Given the description of an element on the screen output the (x, y) to click on. 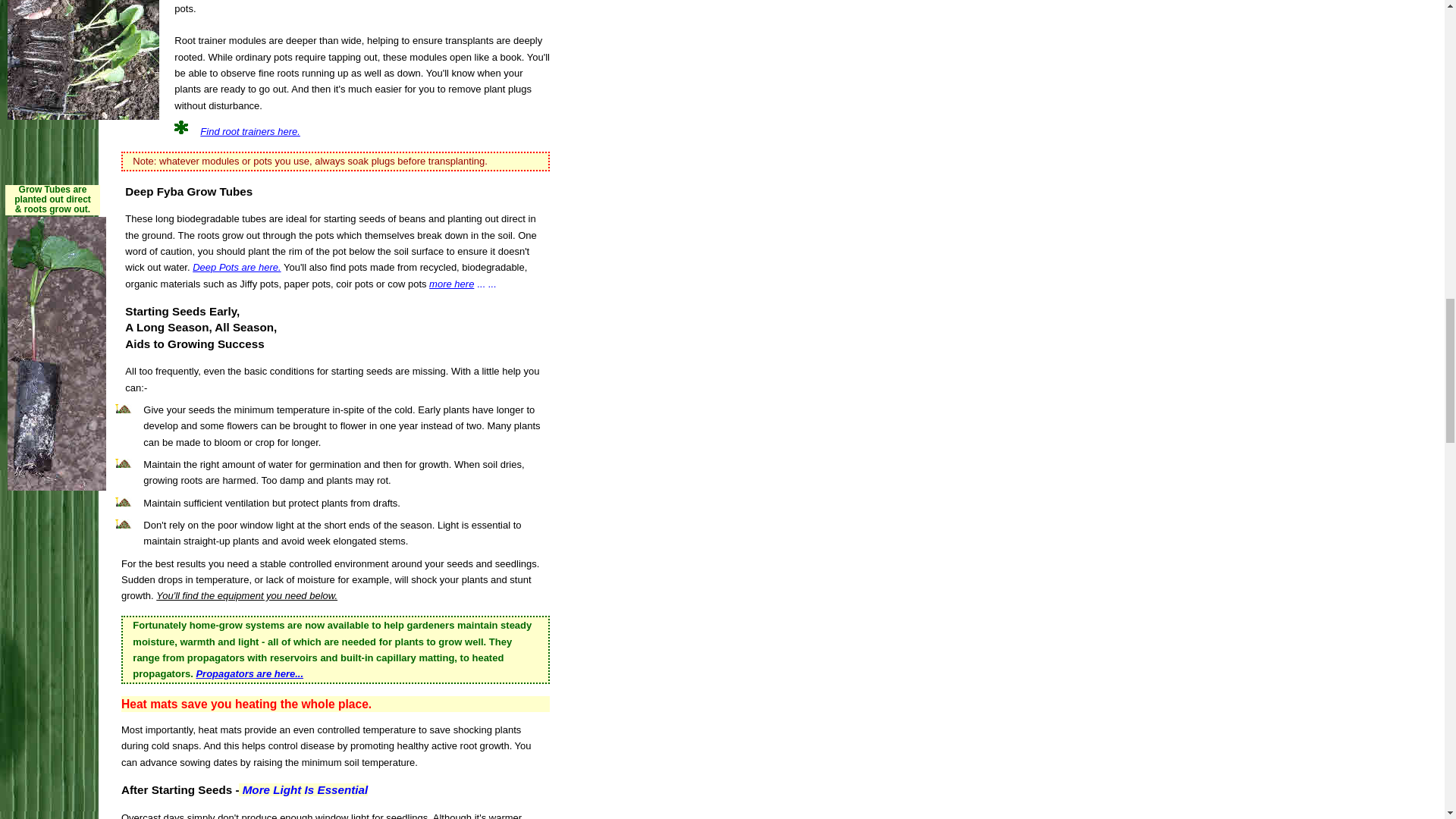
Propagators are here... (248, 673)
Find root trainers here. (249, 131)
Rootrainers make transplanting easy (82, 59)
